Given the description of an element on the screen output the (x, y) to click on. 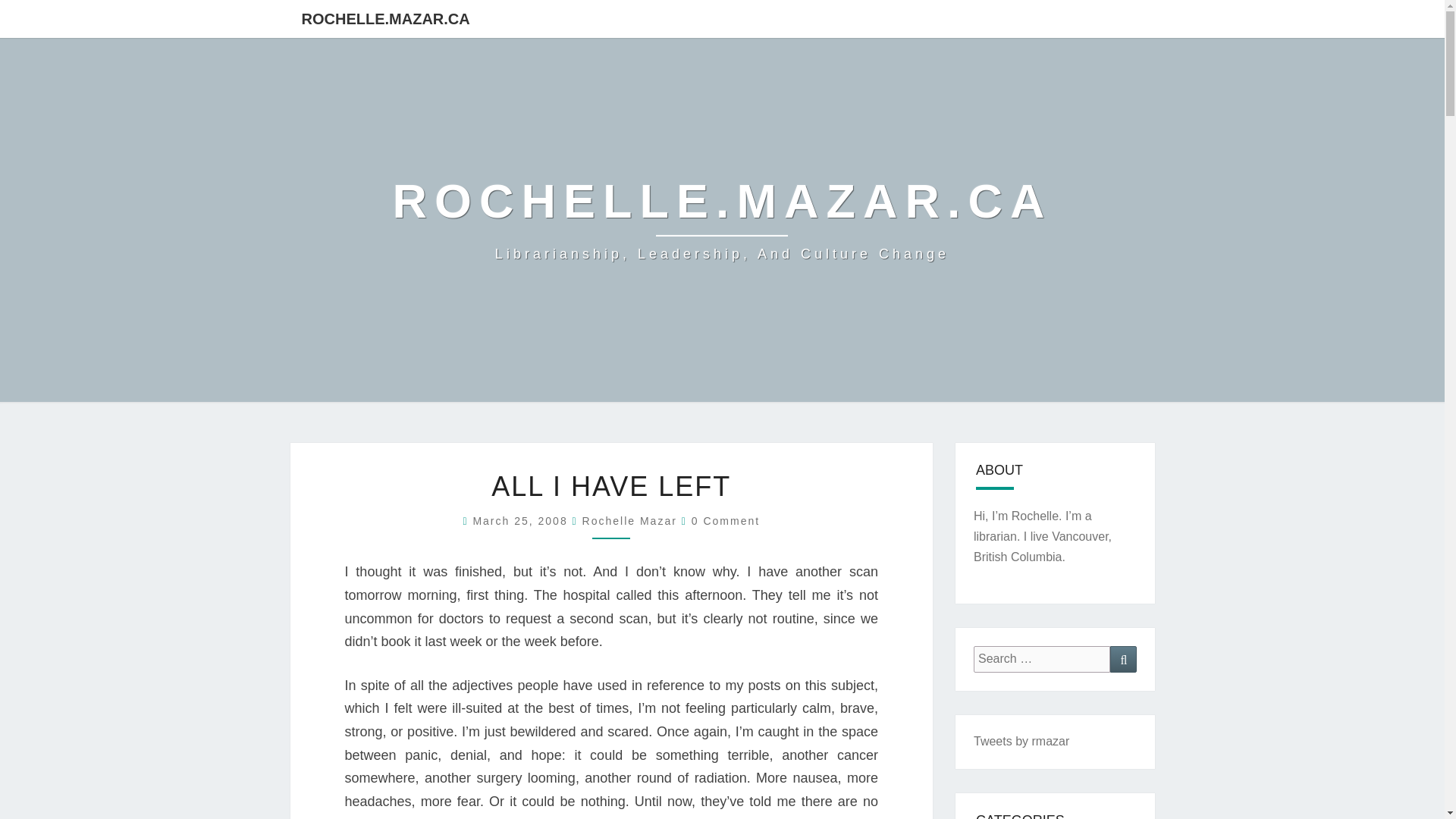
March 25, 2008 (521, 521)
View all posts by Rochelle Mazar (629, 521)
0 Comment (725, 521)
Search (1123, 659)
Tweets by rmazar (1021, 740)
8:35 pm (521, 521)
Search for: (1041, 659)
Rochelle Mazar (629, 521)
rochelle.mazar.ca (722, 219)
